Given the description of an element on the screen output the (x, y) to click on. 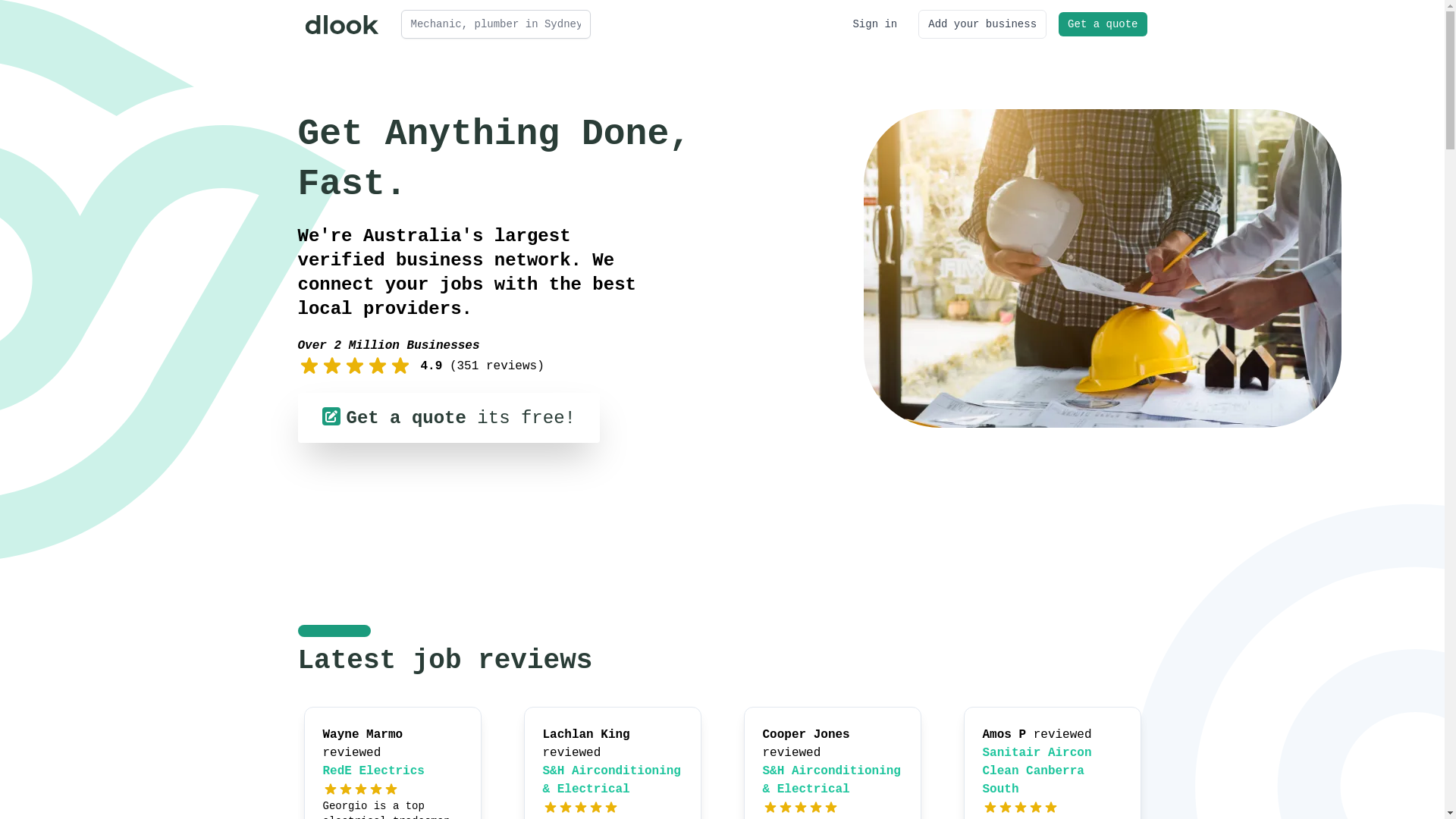
Get a quote its free! Element type: text (448, 417)
Get a quote Element type: text (1102, 24)
Sanitair Aircon Clean Canberra South Element type: text (1037, 771)
Add your business Element type: text (982, 23)
Sign in Element type: text (874, 23)
S&H Airconditioning & Electrical Element type: text (611, 780)
RedE Electrics Element type: text (373, 771)
S&H Airconditioning & Electrical Element type: text (831, 780)
